Given the description of an element on the screen output the (x, y) to click on. 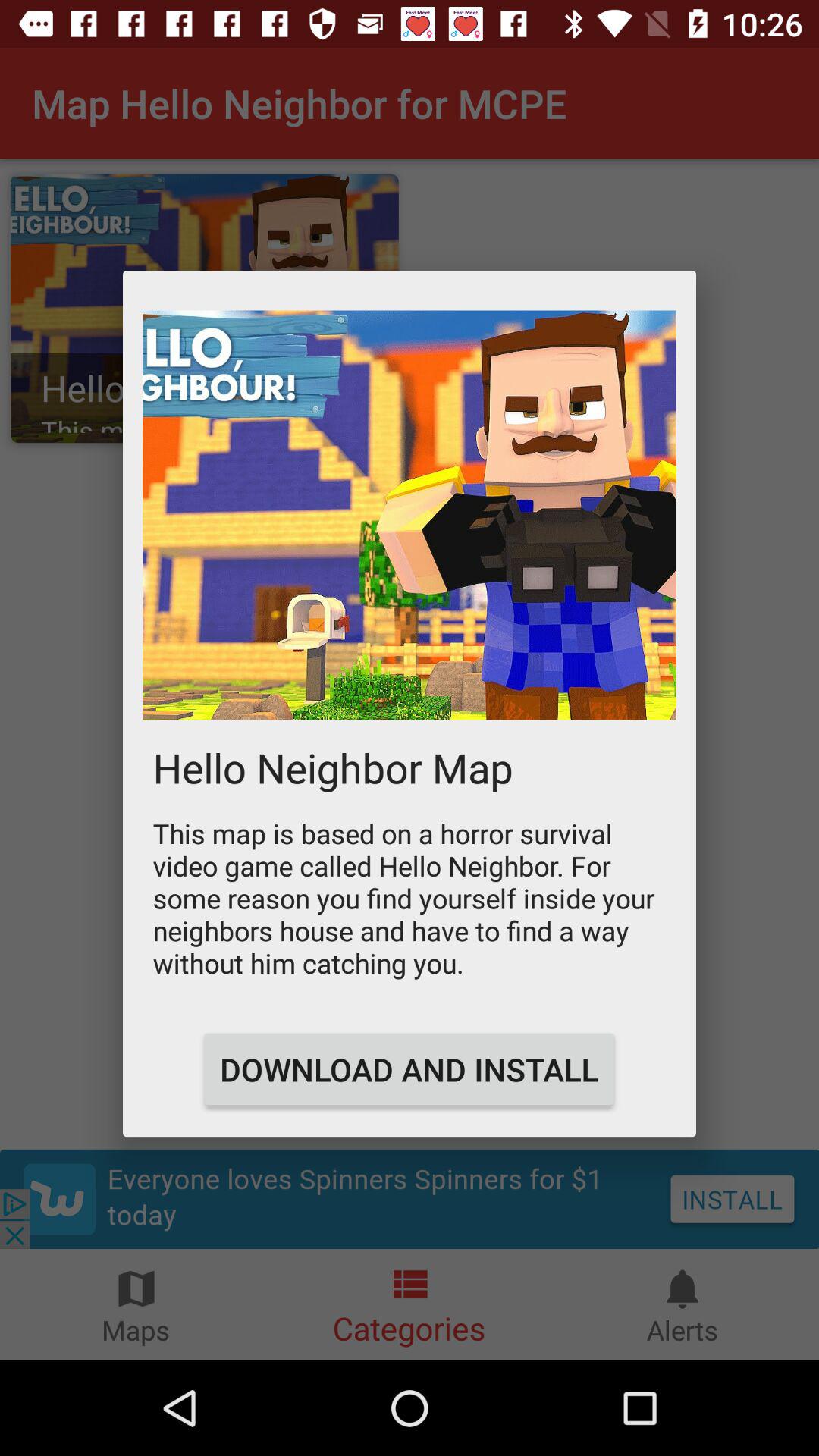
choose download and install at the bottom (409, 1069)
